Given the description of an element on the screen output the (x, y) to click on. 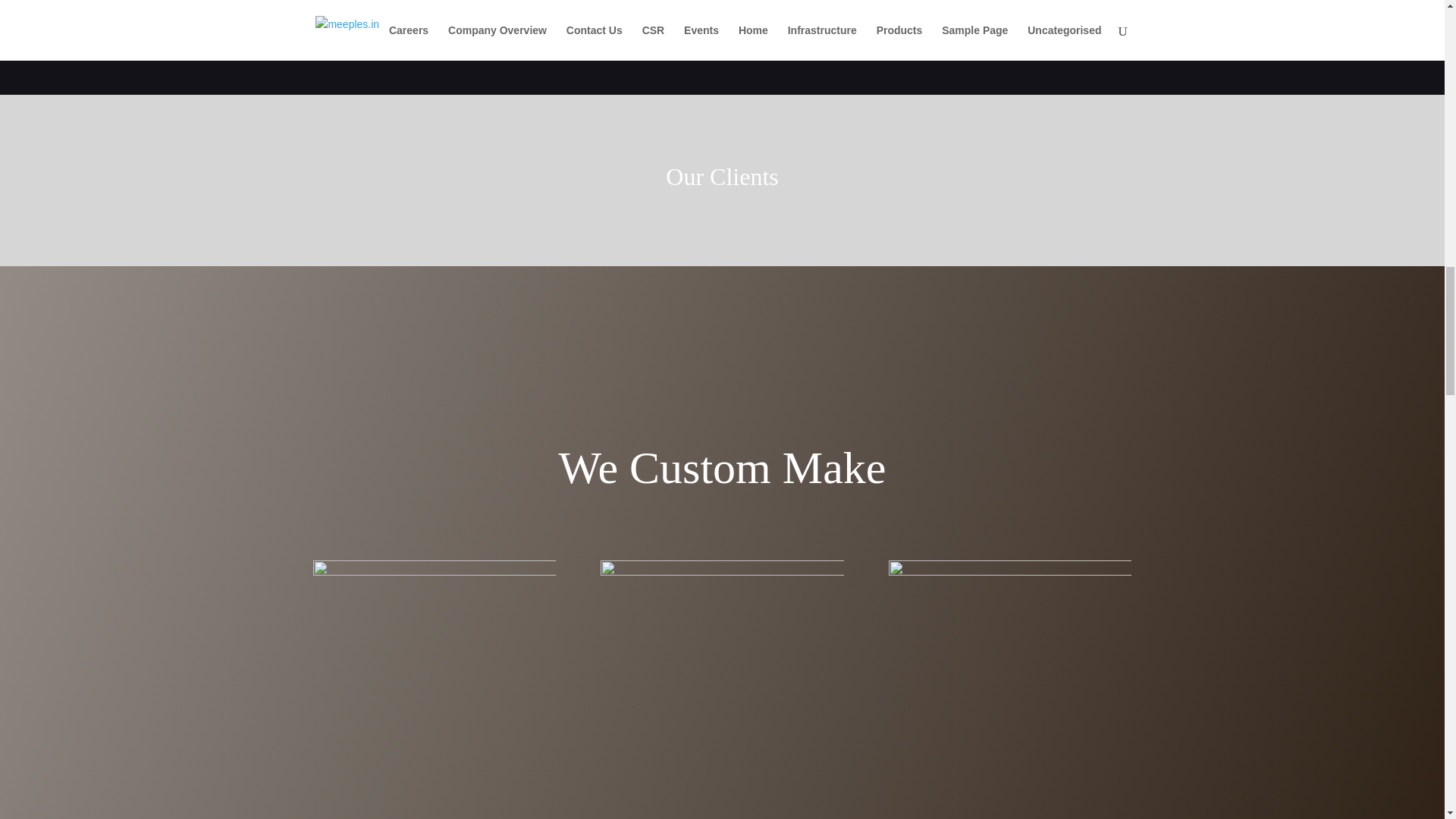
product2 (721, 681)
product-1 (433, 681)
product3 (1009, 681)
SHOP ALL (722, 12)
